Given the description of an element on the screen output the (x, y) to click on. 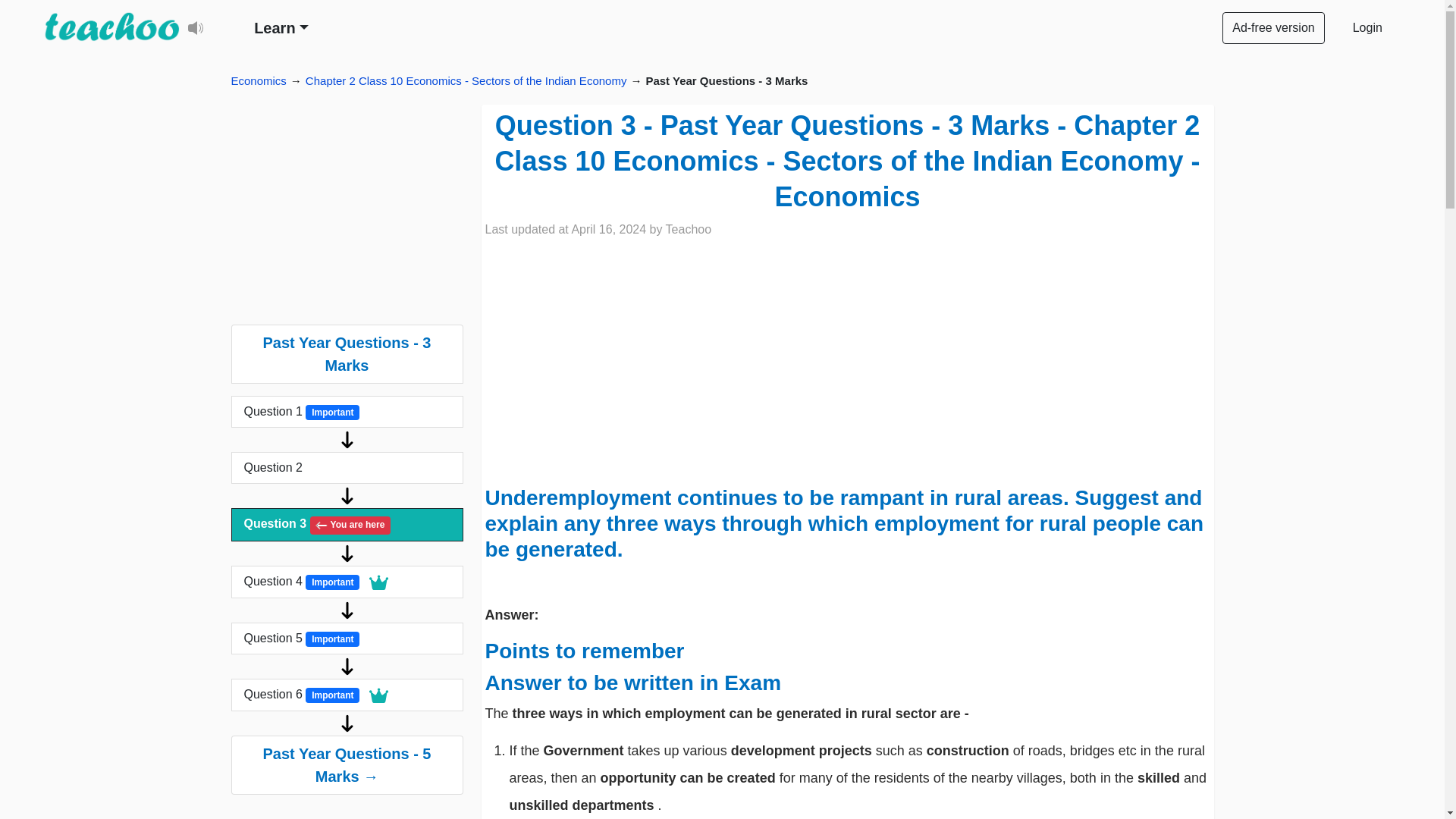
Learn (280, 27)
Advertisement (346, 214)
